Given the description of an element on the screen output the (x, y) to click on. 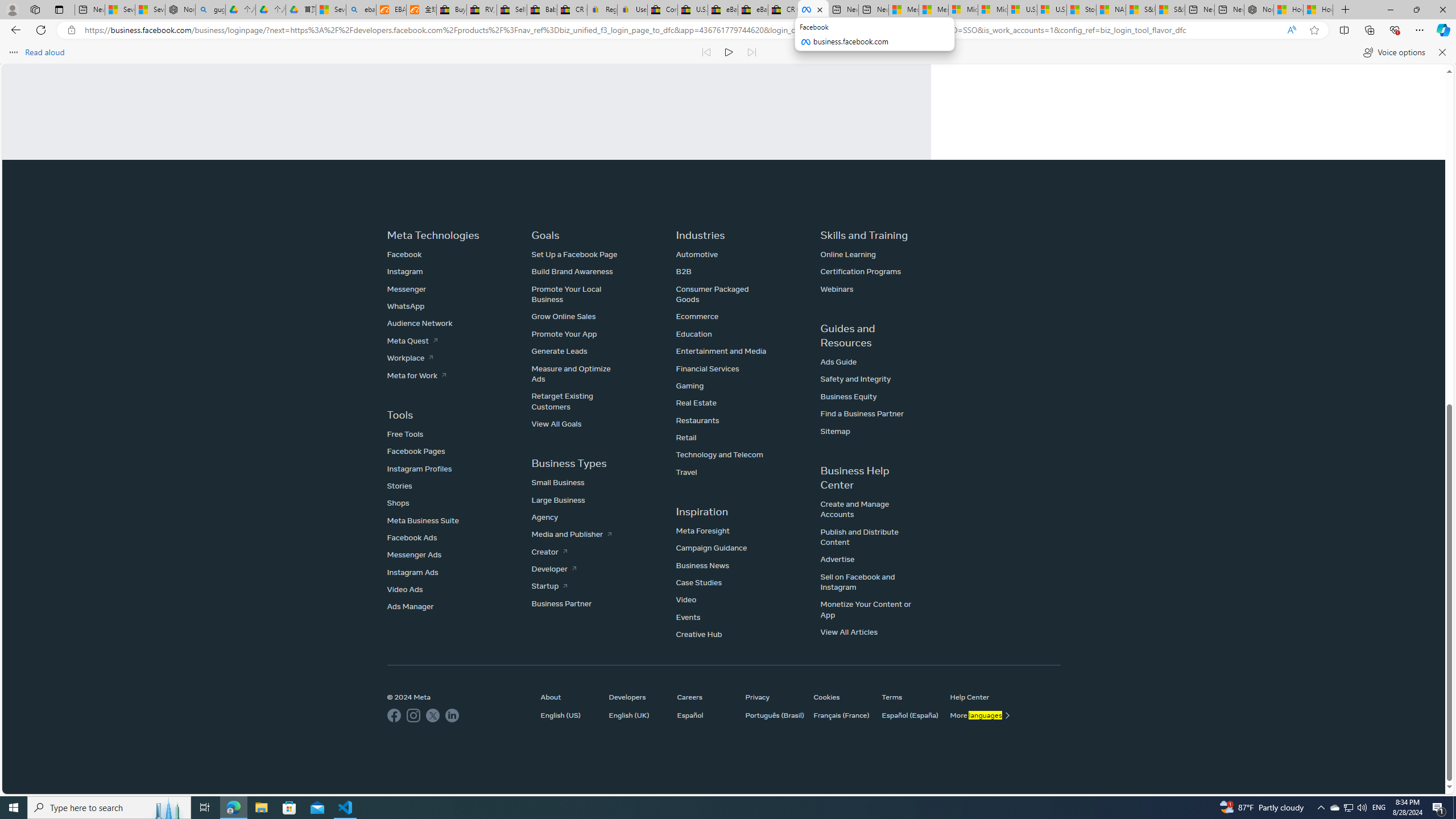
Create and Manage Accounts (854, 508)
Meta for Work (416, 375)
Cookies (842, 696)
English (US) (568, 714)
Webinars (836, 288)
More languages (978, 714)
